Given the description of an element on the screen output the (x, y) to click on. 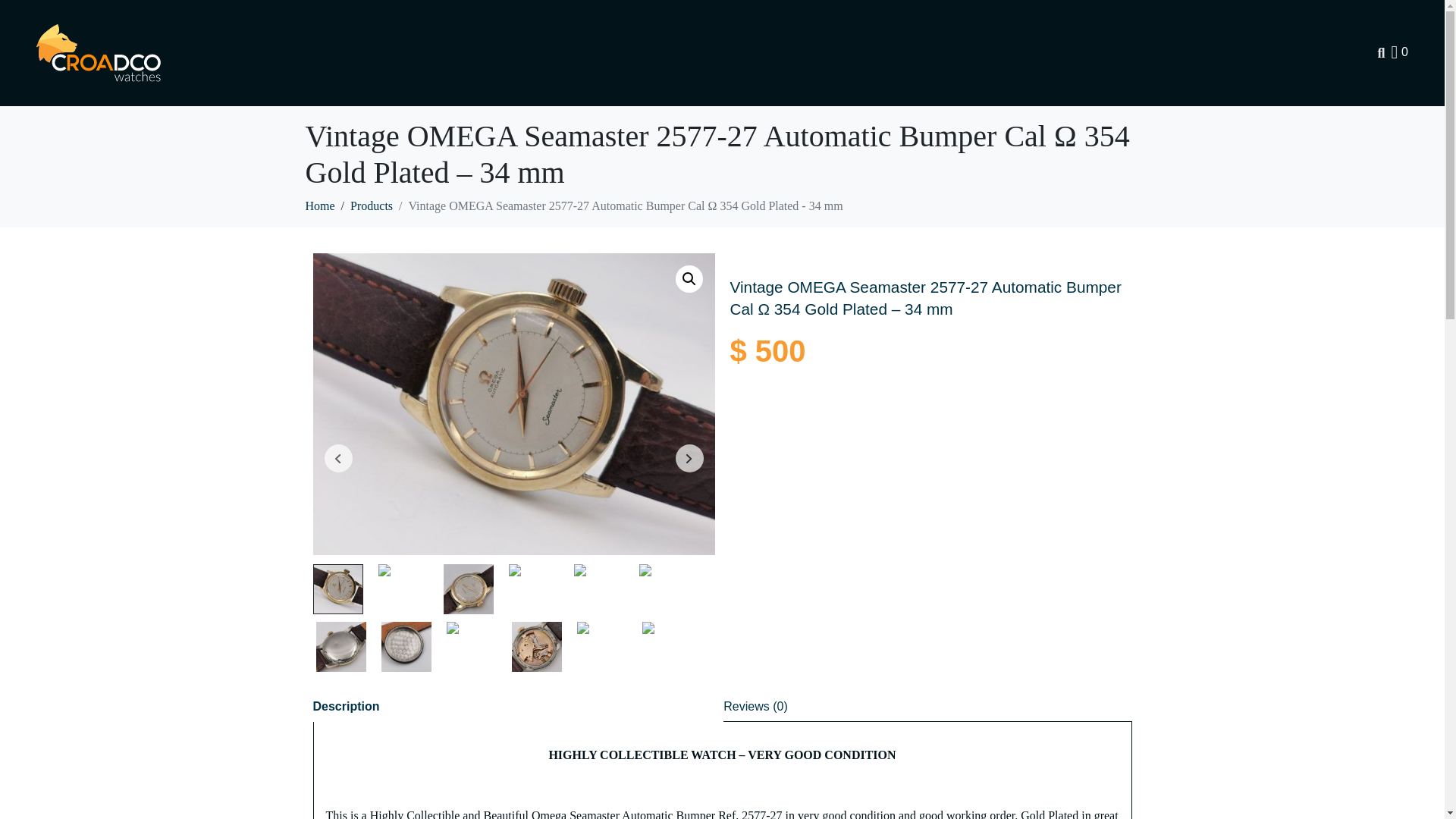
Description (345, 706)
Products (371, 205)
Home (319, 205)
0 (1399, 51)
